Given the description of an element on the screen output the (x, y) to click on. 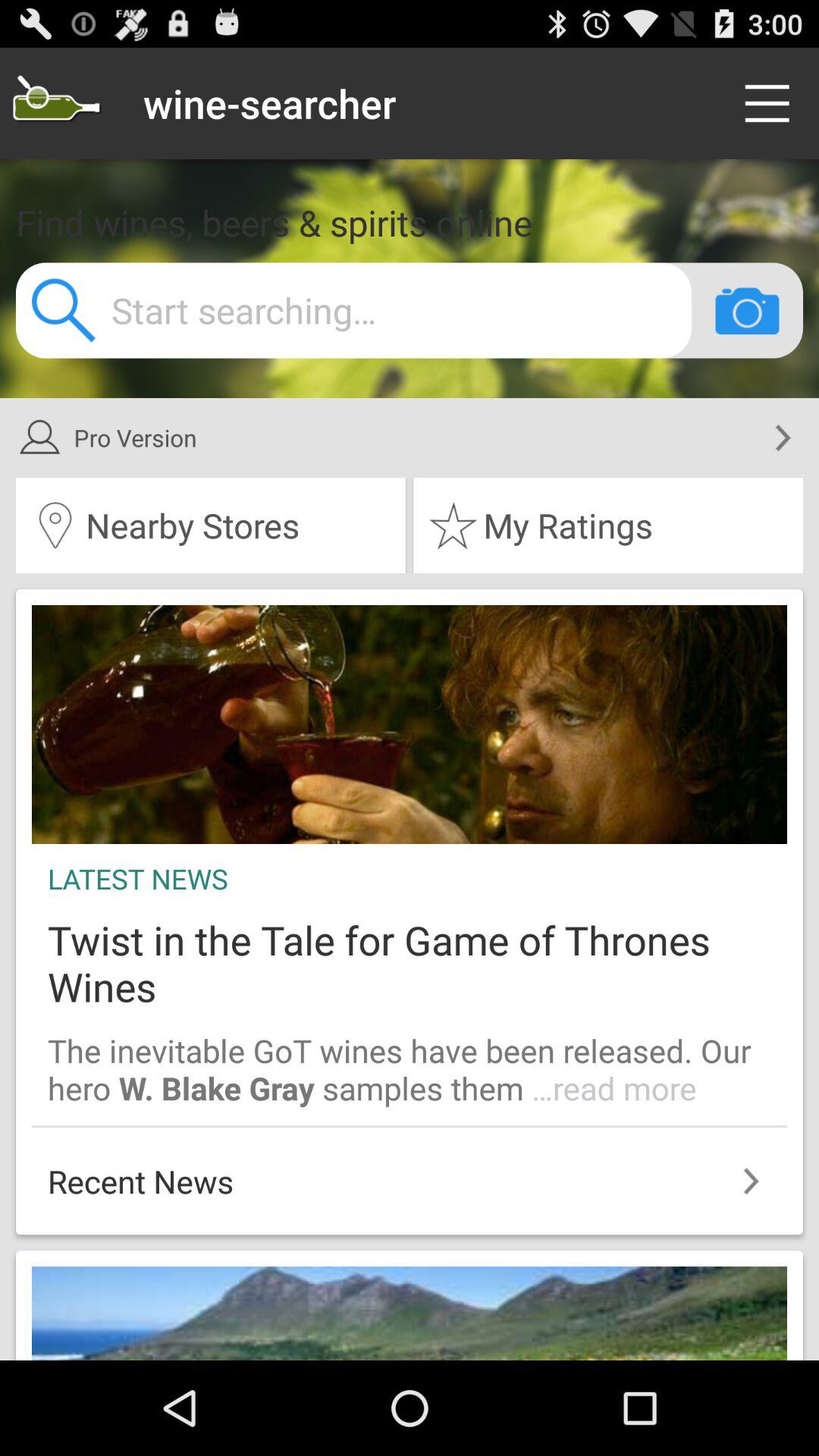
search by image (747, 310)
